Given the description of an element on the screen output the (x, y) to click on. 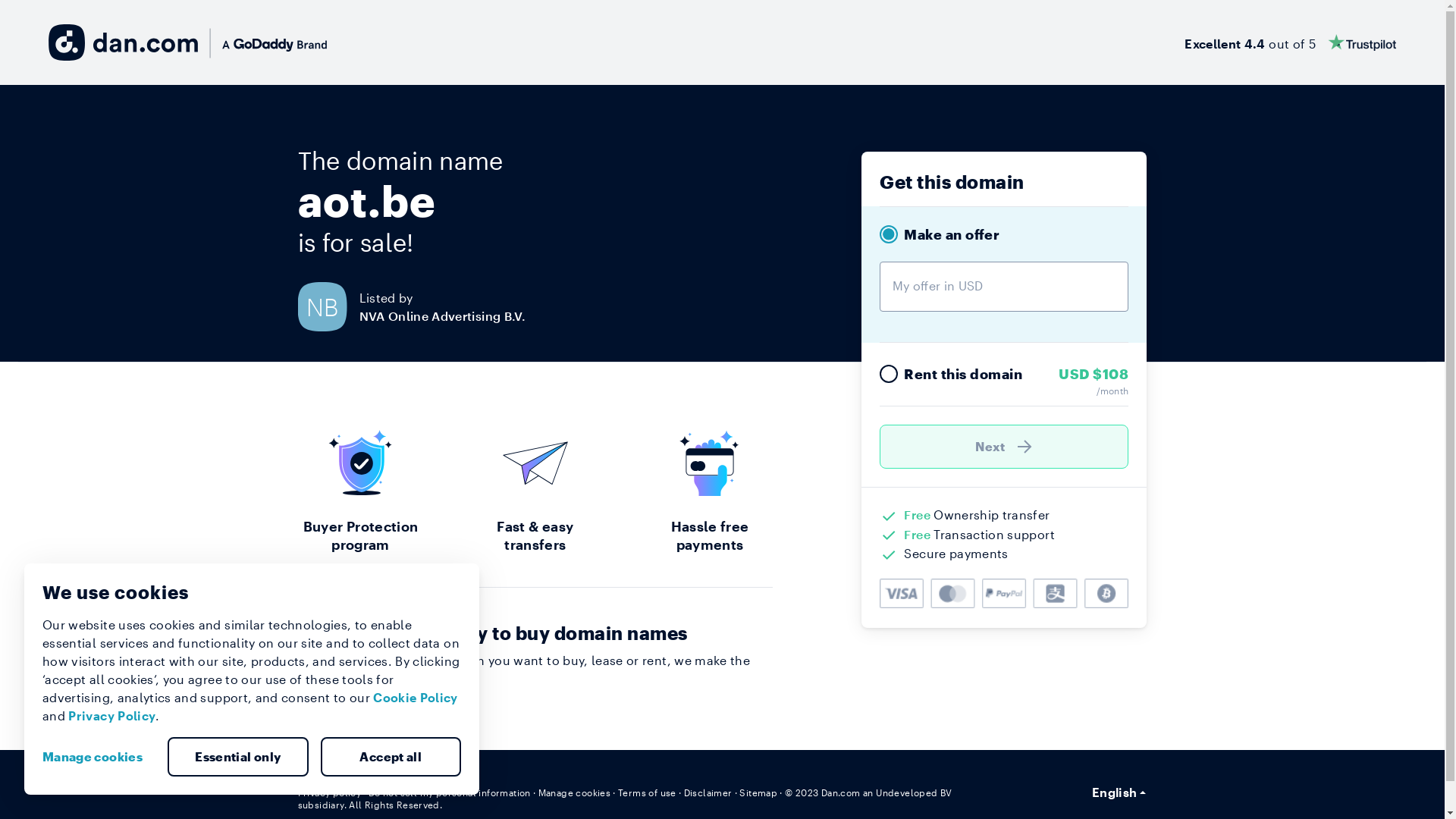
Manage cookies Element type: text (98, 756)
Next
) Element type: text (1003, 446)
Excellent 4.4 out of 5 Element type: text (1290, 42)
Manage cookies Element type: text (574, 792)
Disclaimer Element type: text (708, 792)
Terms of use Element type: text (647, 792)
English Element type: text (1119, 792)
Privacy policy Element type: text (328, 792)
Sitemap Element type: text (758, 792)
Privacy Policy Element type: text (111, 715)
Do not sell my personal information Element type: text (449, 792)
Accept all Element type: text (390, 756)
Essential only Element type: text (237, 756)
Cookie Policy Element type: text (415, 697)
